Given the description of an element on the screen output the (x, y) to click on. 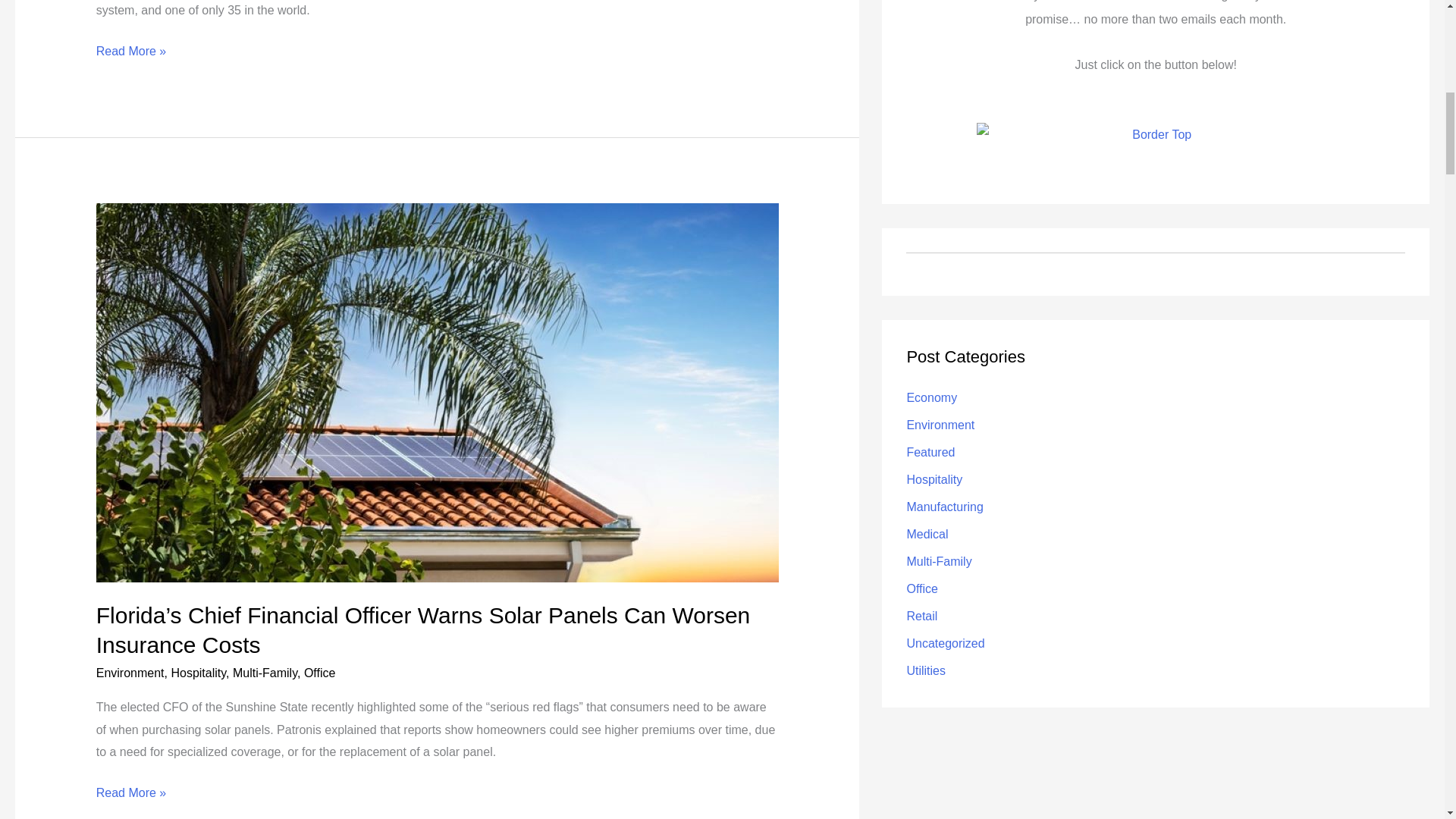
Office (320, 671)
Hospitality (197, 671)
Environment (130, 671)
Multi-Family (264, 671)
